Given the description of an element on the screen output the (x, y) to click on. 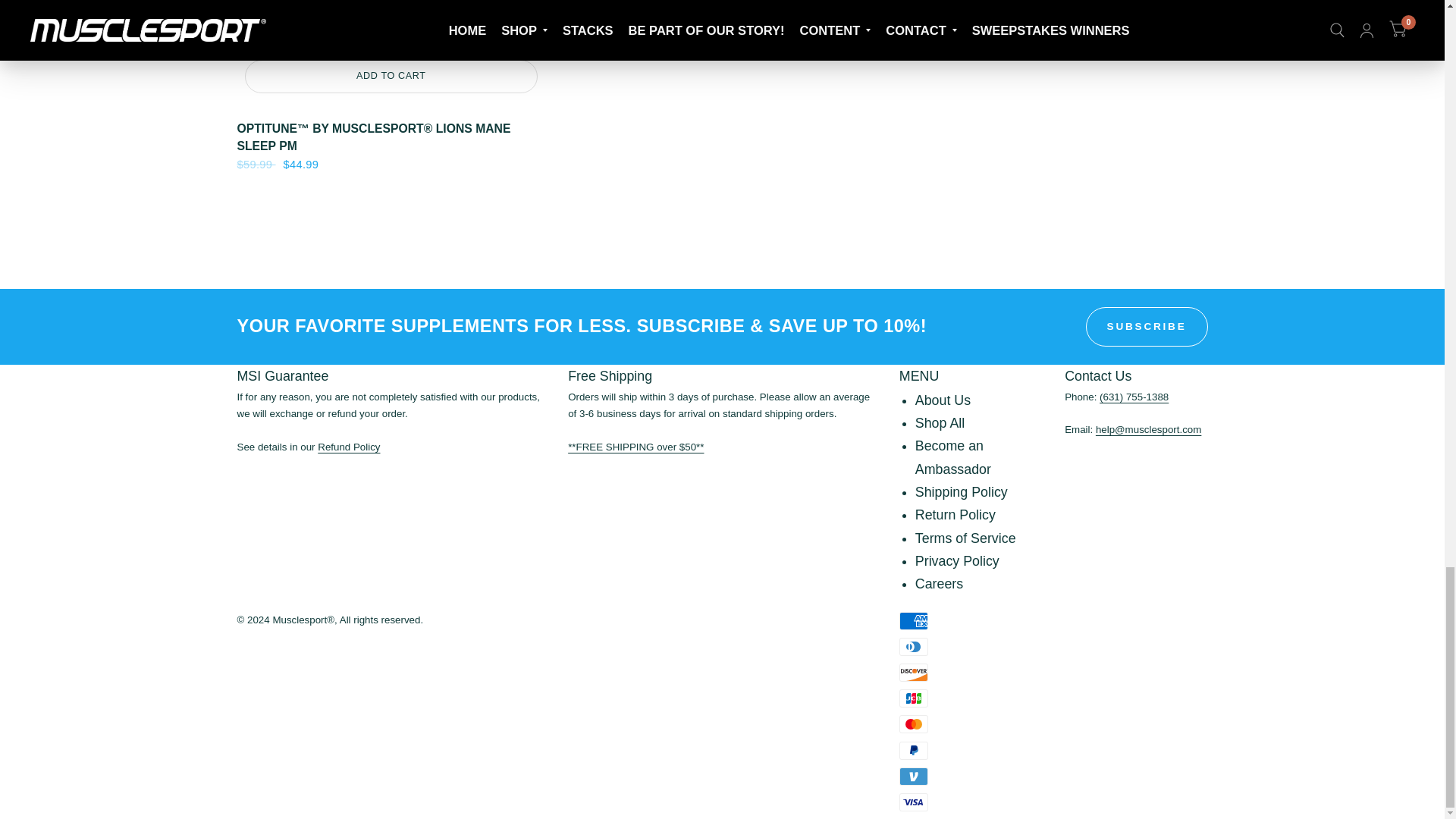
American Express (913, 620)
PayPal (913, 751)
Discover (913, 672)
Visa (913, 802)
Mastercard (913, 723)
JCB (913, 698)
Venmo (913, 776)
Diners Club (913, 647)
